Given the description of an element on the screen output the (x, y) to click on. 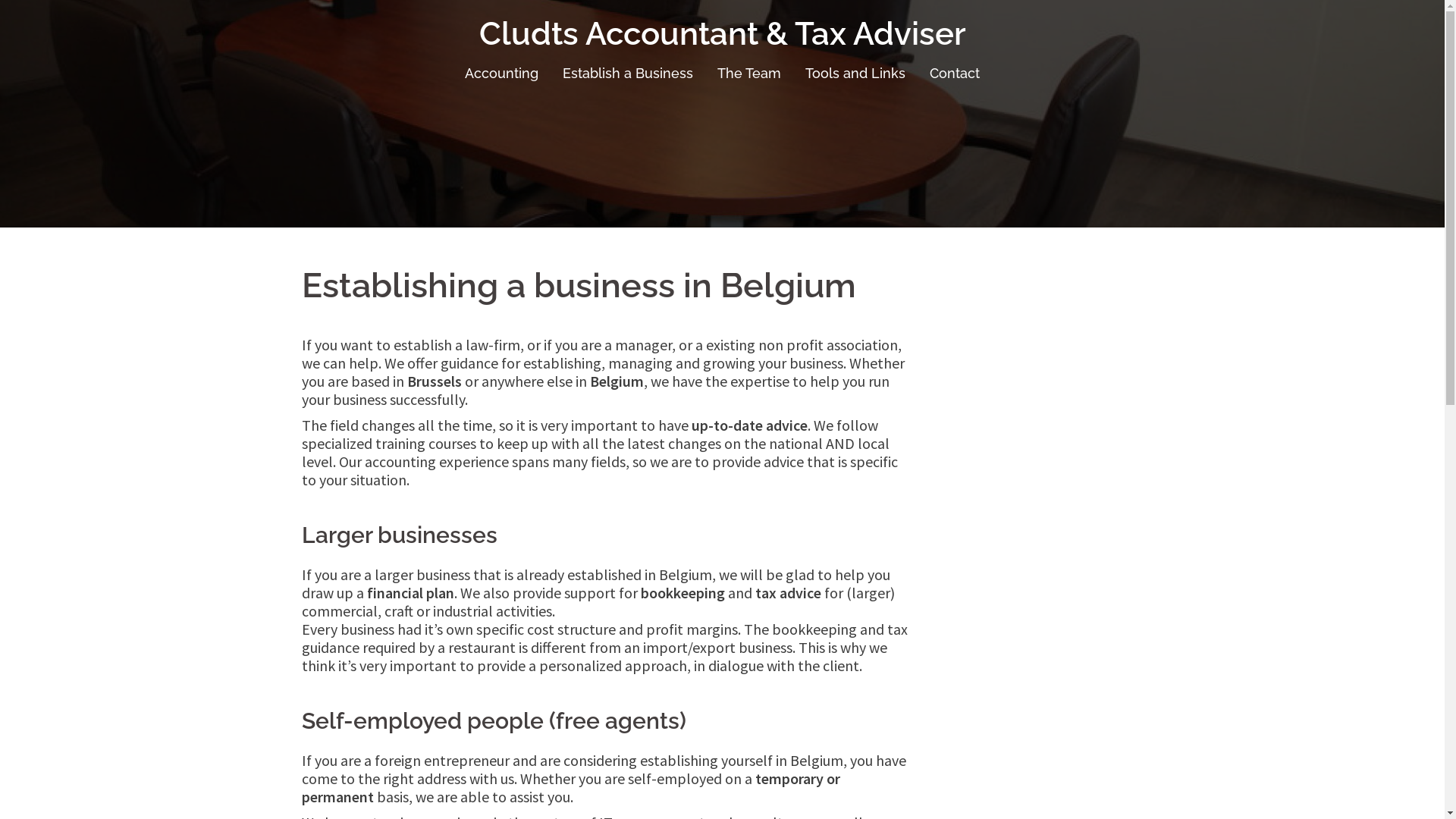
The Team Element type: text (749, 73)
Establish a Business Element type: text (627, 73)
Tools and Links Element type: text (855, 73)
Accounting Element type: text (501, 73)
Skip to content Element type: text (0, 0)
Cludts Accountant & Tax Adviser Element type: text (722, 33)
Contact Element type: text (954, 73)
